Given the description of an element on the screen output the (x, y) to click on. 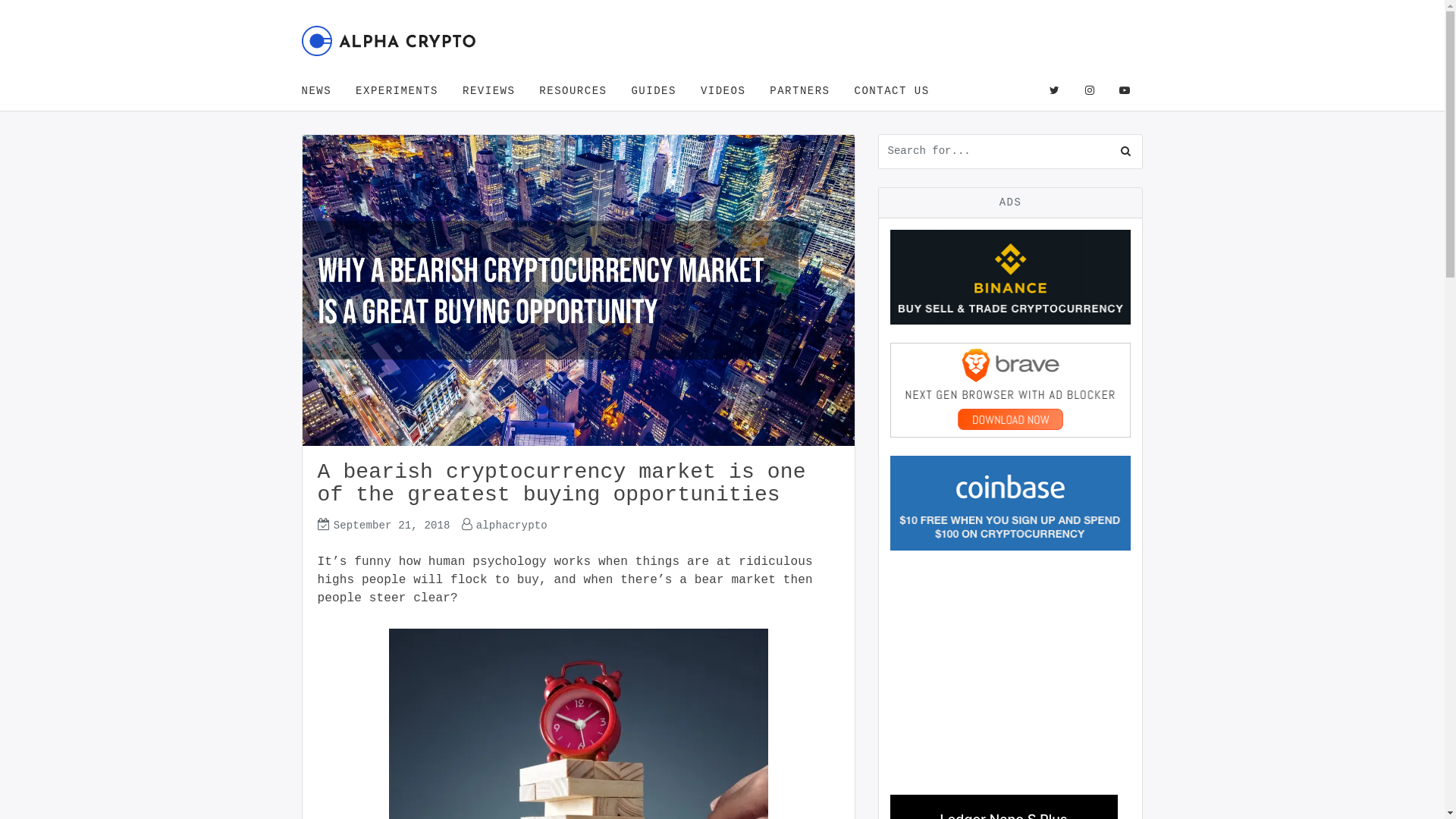
RESOURCES Element type: text (572, 91)
Binance cryptocurrency exchange Element type: hover (1010, 276)
September 21, 2018 Element type: text (391, 525)
VIDEOS Element type: text (722, 91)
PARTNERS Element type: text (799, 91)
NEWS Element type: text (322, 91)
alphacrypto Element type: text (511, 525)
Advertisement Element type: hover (1010, 663)
EXPERIMENTS Element type: text (396, 91)
GUIDES Element type: text (652, 91)
Skip to content Element type: text (300, 10)
Ad blocking web browser Element type: hover (1010, 389)
REVIEWS Element type: text (488, 91)
CONTACT US Element type: text (891, 91)
